Given the description of an element on the screen output the (x, y) to click on. 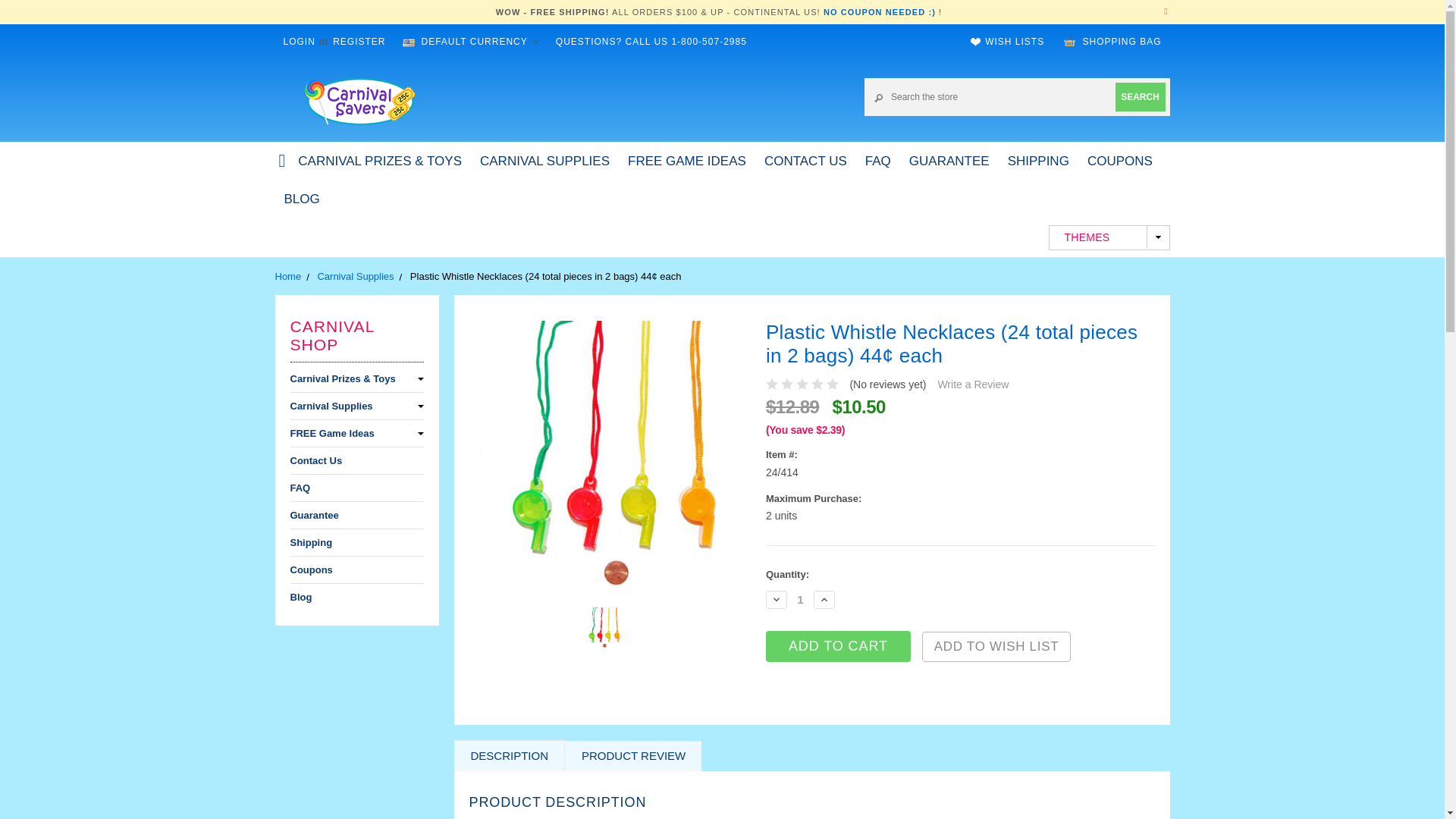
Search (1139, 95)
Search (1139, 95)
Bright Plastic Whistles on a Rope (603, 628)
Bright Plastic Whistles on a Rope (606, 458)
Carnival Savers (360, 100)
View Cart (1068, 41)
1 (800, 599)
Add to Cart (838, 645)
Add to Wish list (996, 646)
